Given the description of an element on the screen output the (x, y) to click on. 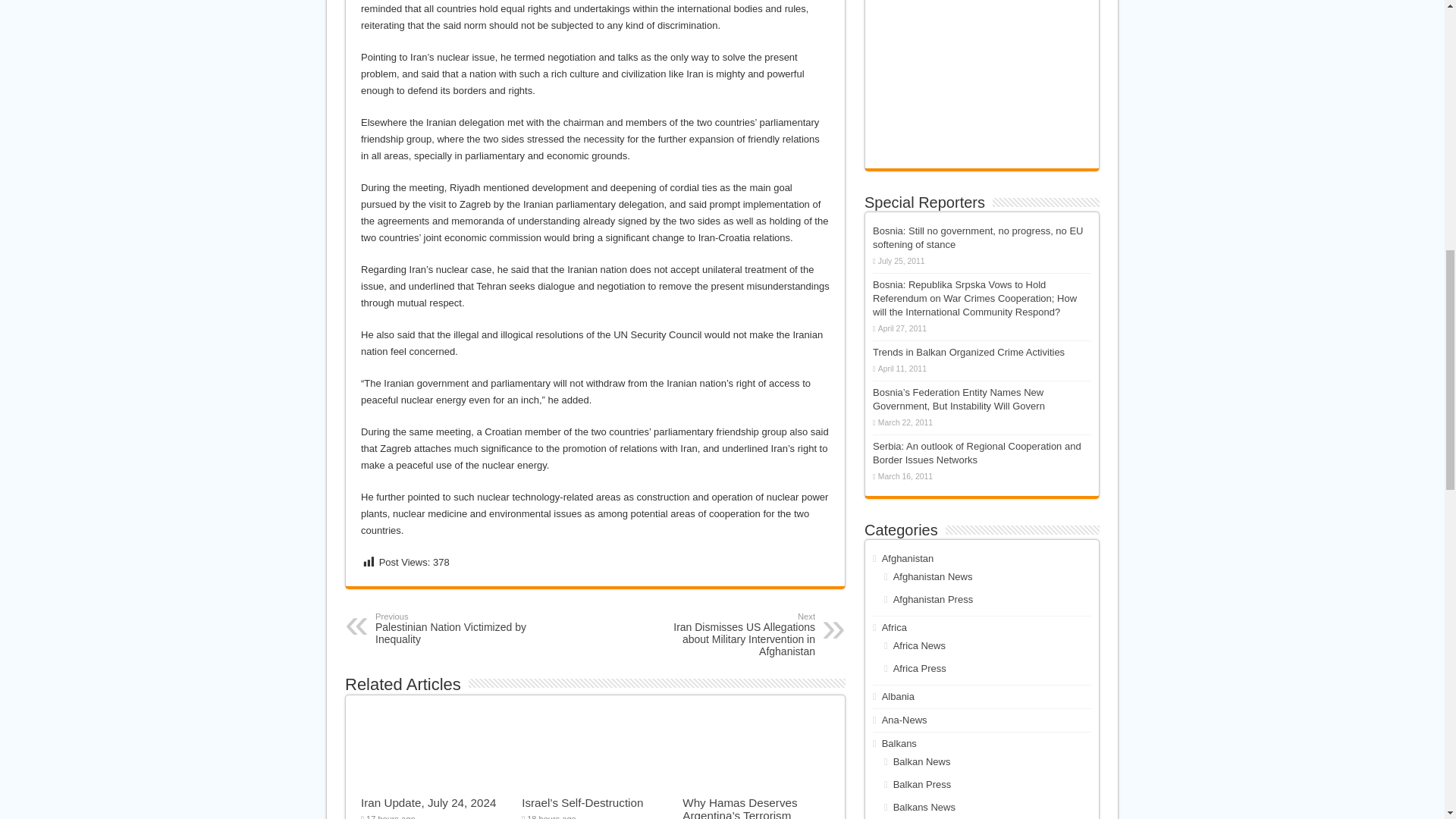
Iran Update, July 24, 2024 (428, 802)
Scroll To Top (453, 628)
